Given the description of an element on the screen output the (x, y) to click on. 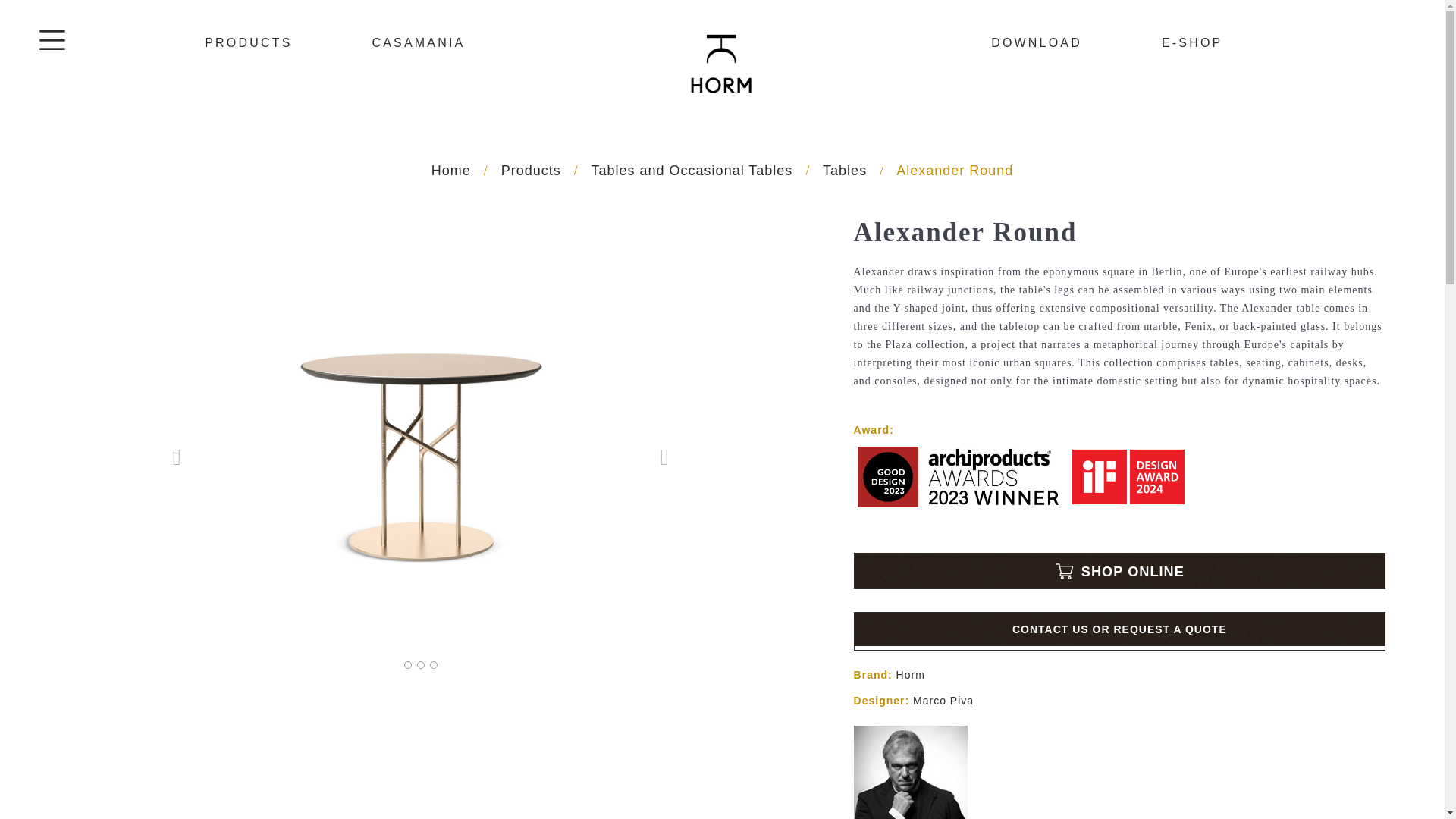
DOWNLOAD (1036, 43)
Products (530, 169)
E-SHOP (1192, 43)
View designers (910, 780)
Home (450, 169)
PRODUCTS (248, 43)
award (1119, 498)
Tables and Occasional Tables (692, 169)
Menu (51, 39)
CASAMANIA (417, 43)
View designers (944, 700)
Tables (844, 169)
